Given the description of an element on the screen output the (x, y) to click on. 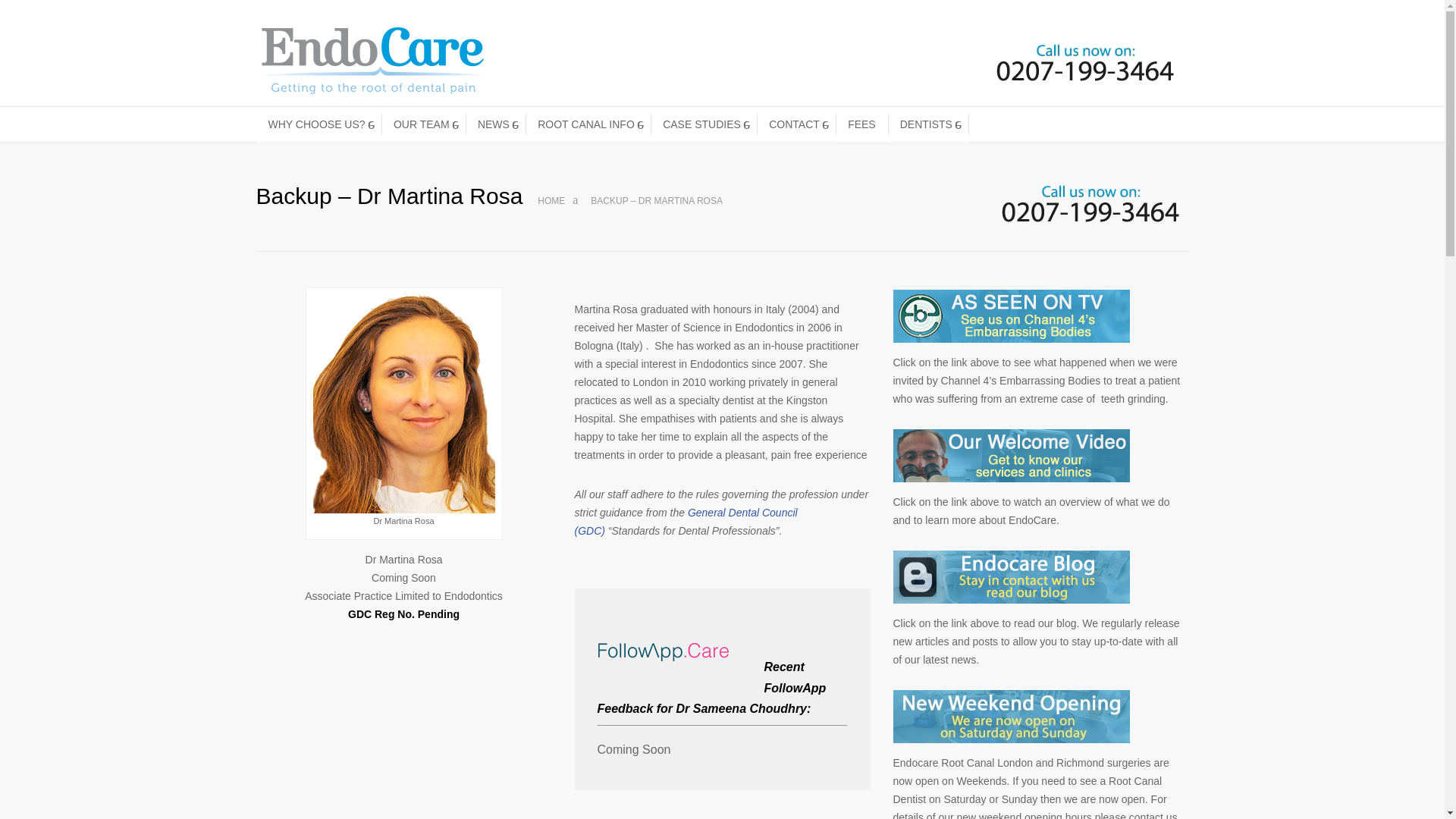
CASE STUDIES (703, 124)
blog7 (1011, 576)
ROOT CANAL INFO (587, 124)
comp-opening (1011, 716)
NEWS (495, 124)
OUR TEAM (423, 124)
Home (550, 200)
ebodvid4 (1011, 316)
ourvid (1011, 455)
WHY CHOOSE US? (318, 124)
